Given the description of an element on the screen output the (x, y) to click on. 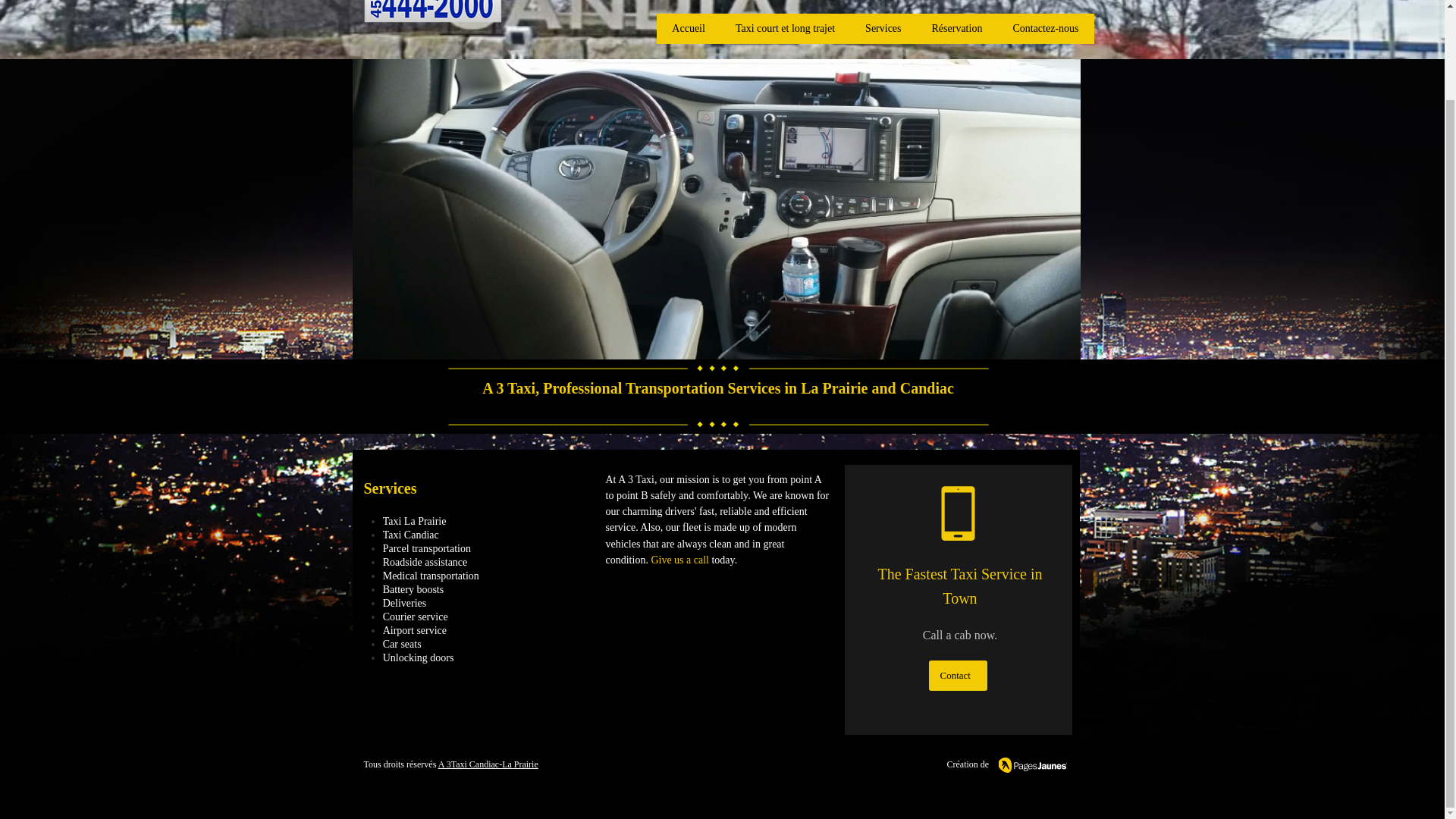
Contact (957, 675)
Accueil (688, 28)
Give us a call (679, 560)
Contactez-nous (1045, 28)
A 3Taxi Candiac-La Prairie (488, 764)
Taxi court et long trajet (785, 28)
Services (882, 28)
